Given the description of an element on the screen output the (x, y) to click on. 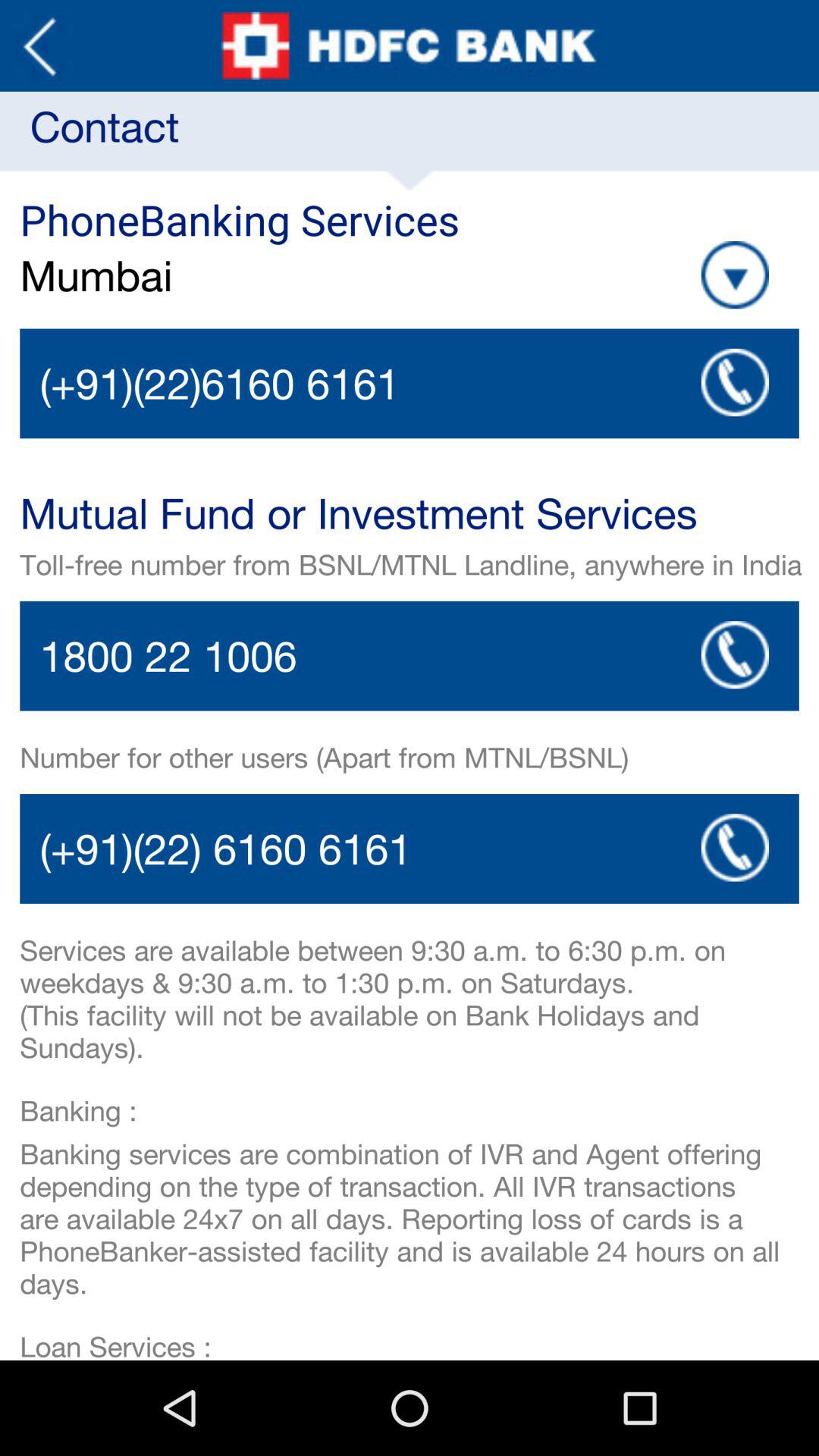
call phone number (409, 383)
